Given the description of an element on the screen output the (x, y) to click on. 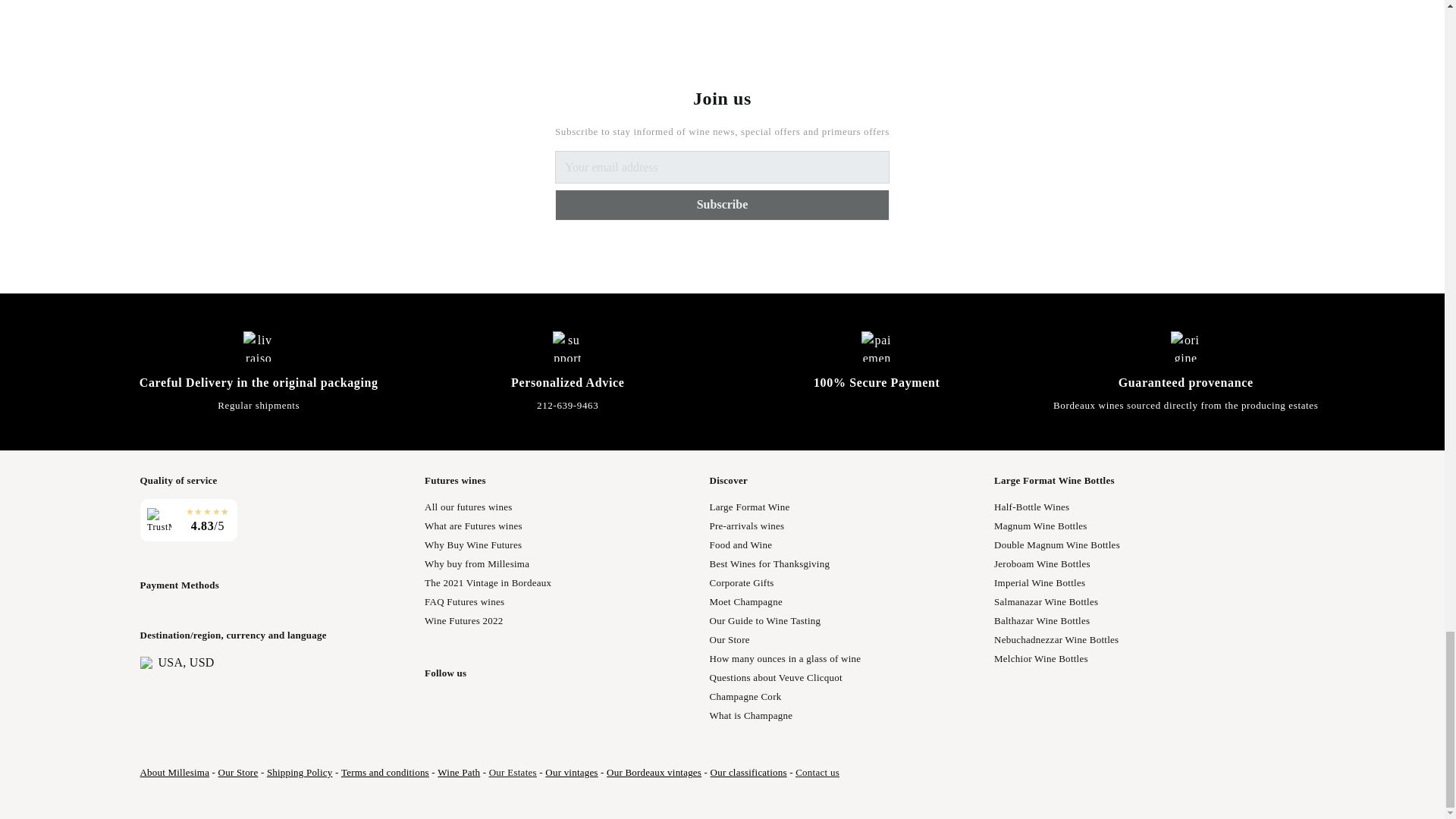
E-mail (721, 166)
